Given the description of an element on the screen output the (x, y) to click on. 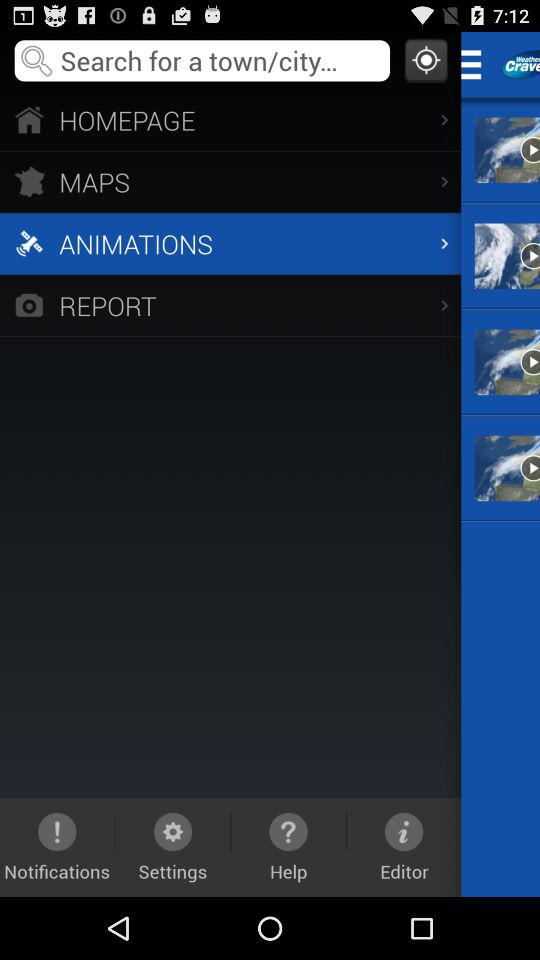
press the icon below the report icon (57, 847)
